Given the description of an element on the screen output the (x, y) to click on. 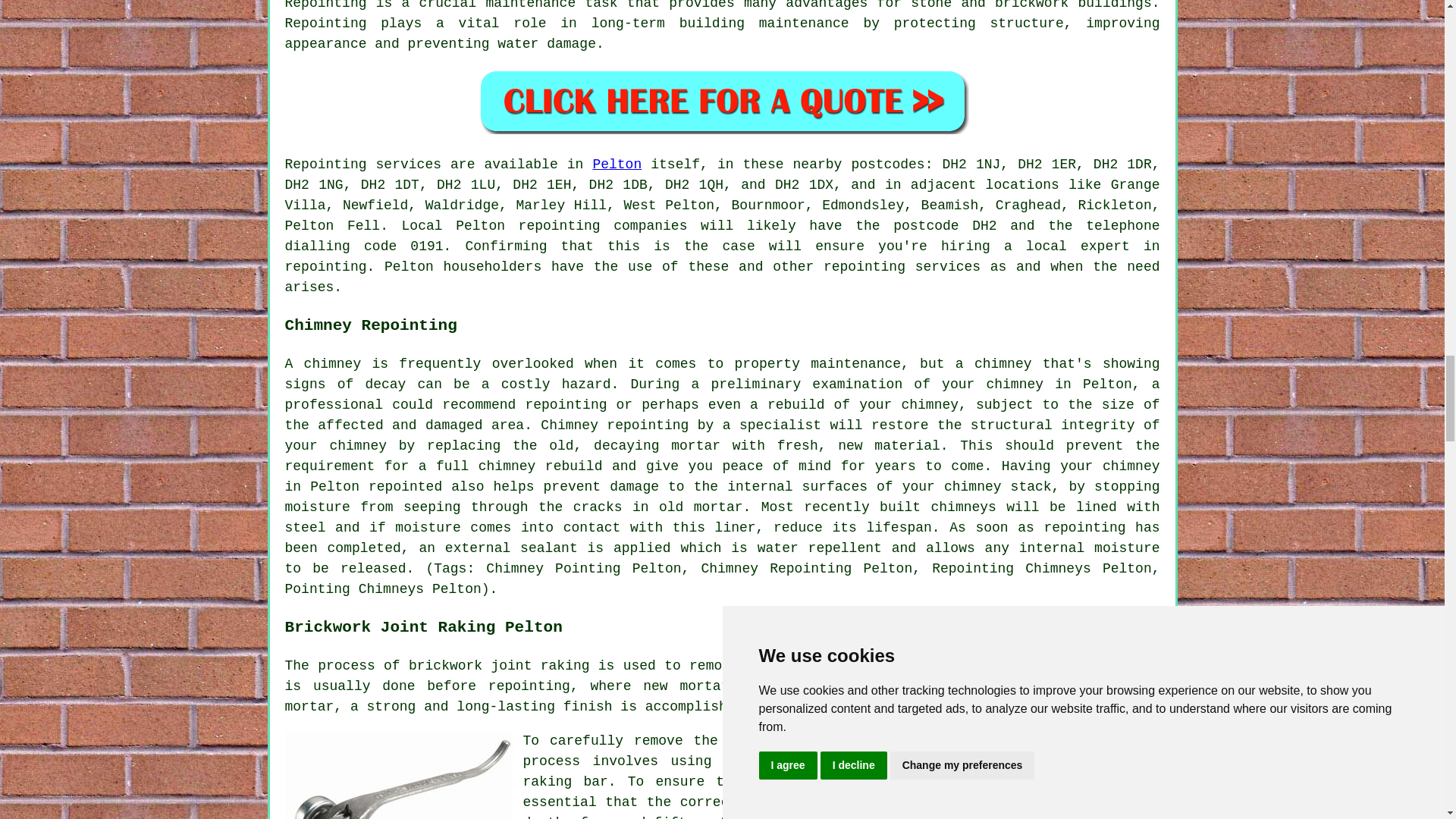
Brickwork Joint Raking Pelton - Brick Joint Raker (398, 775)
Book a Repointing Specialist in Pelton UK (722, 100)
repointing (528, 685)
repointing (558, 225)
repointing (565, 404)
Repointing (325, 164)
